Given the description of an element on the screen output the (x, y) to click on. 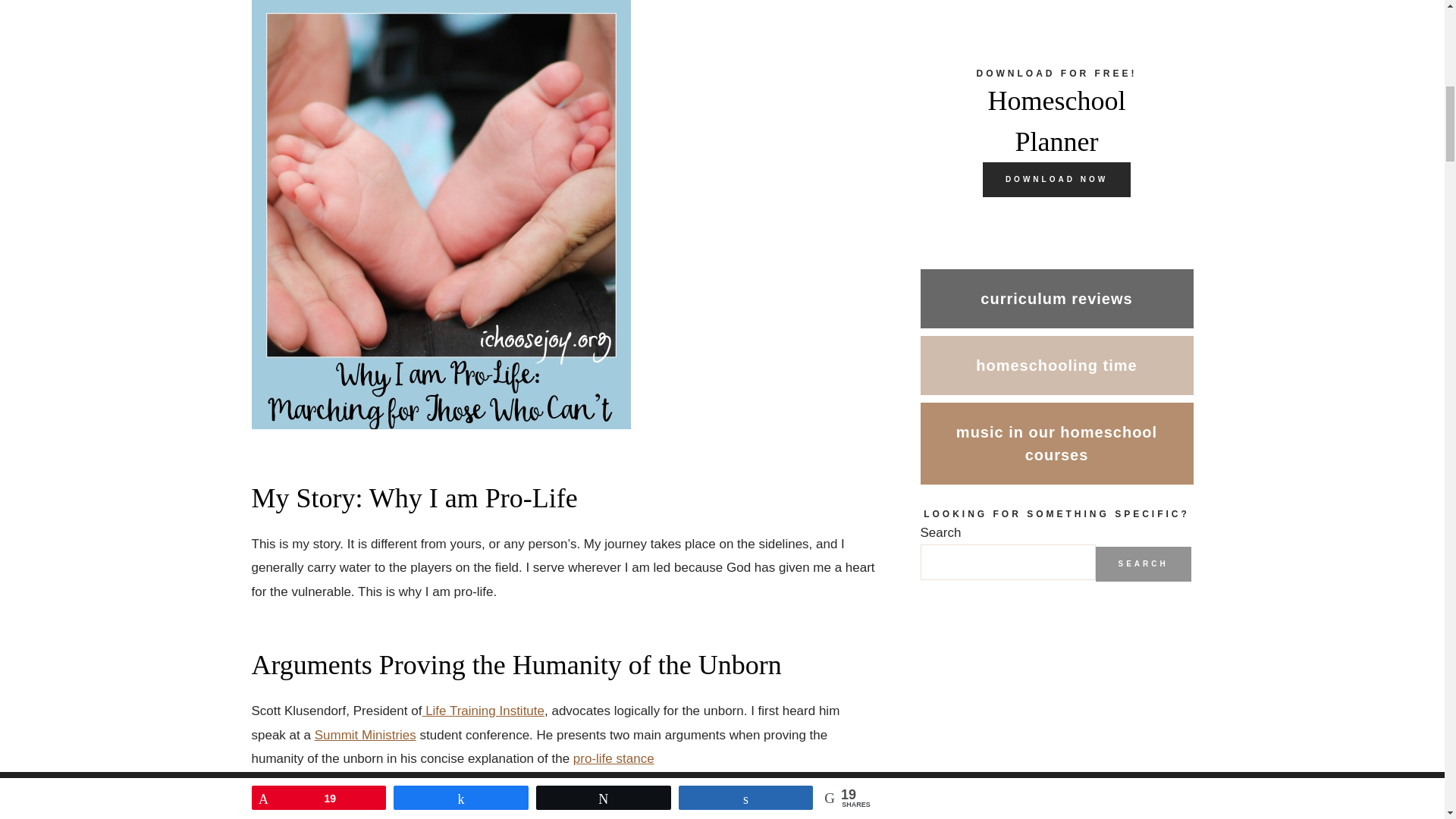
pro-life stance (613, 758)
Life Training Institute (483, 710)
Summit Ministries (365, 735)
